Given the description of an element on the screen output the (x, y) to click on. 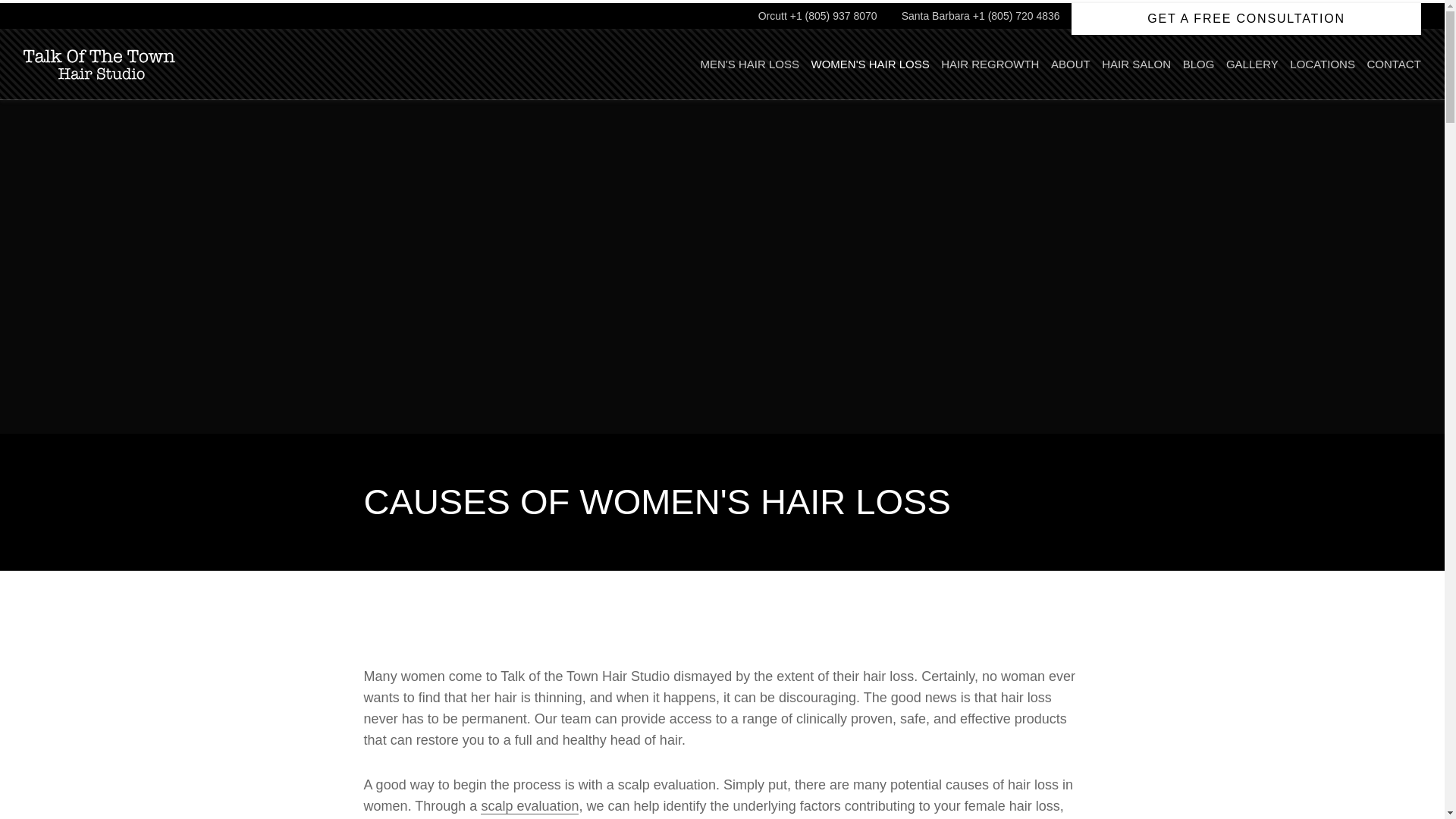
WOMEN'S HAIR LOSS (870, 63)
Talk of the Town Hair Studio (98, 63)
GET A FREE CONSULTATION (1246, 19)
MEN'S HAIR LOSS (749, 63)
